Given the description of an element on the screen output the (x, y) to click on. 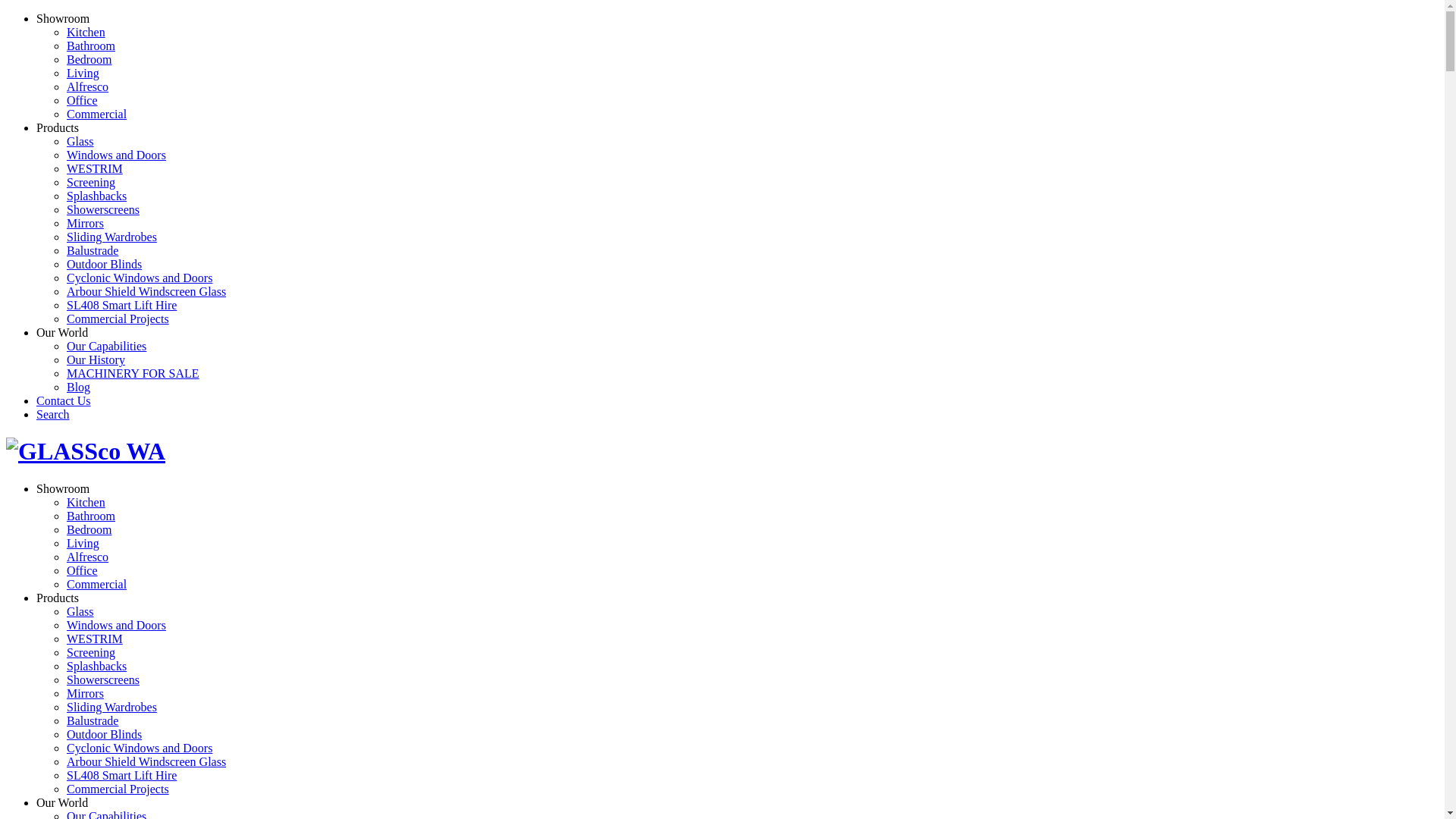
Outdoor Blinds Element type: text (103, 734)
MACHINERY FOR SALE Element type: text (132, 373)
Alfresco Element type: text (87, 86)
Showerscreens Element type: text (102, 209)
Cyclonic Windows and Doors Element type: text (139, 277)
Our Capabilities Element type: text (106, 345)
Office Element type: text (81, 100)
Glass Element type: text (80, 611)
Office Element type: text (81, 570)
Commercial Projects Element type: text (117, 788)
Kitchen Element type: text (85, 31)
SL408 Smart Lift Hire Element type: text (121, 304)
WESTRIM Element type: text (94, 638)
Blog Element type: text (78, 386)
Commercial Element type: text (96, 113)
Kitchen Element type: text (85, 501)
Splashbacks Element type: text (96, 195)
Bathroom Element type: text (90, 515)
Cyclonic Windows and Doors Element type: text (139, 747)
Balustrade Element type: text (92, 720)
Products Element type: text (57, 127)
Commercial Element type: text (96, 583)
Arbour Shield Windscreen Glass Element type: text (145, 761)
SL408 Smart Lift Hire Element type: text (121, 774)
Living Element type: text (82, 542)
Showroom Element type: text (62, 488)
Living Element type: text (82, 72)
Screening Element type: text (90, 181)
Bathroom Element type: text (90, 45)
Glass Element type: text (80, 140)
WESTRIM Element type: text (94, 168)
Splashbacks Element type: text (96, 665)
Our World Element type: text (61, 802)
Our History Element type: text (95, 359)
Search Element type: text (52, 413)
Mirrors Element type: text (84, 693)
Products Element type: text (57, 597)
Bedroom Element type: text (89, 529)
Showroom Element type: text (62, 18)
Sliding Wardrobes Element type: text (111, 236)
Windows and Doors Element type: text (116, 624)
Screening Element type: text (90, 652)
Arbour Shield Windscreen Glass Element type: text (145, 291)
Our World Element type: text (61, 332)
Windows and Doors Element type: text (116, 154)
Sliding Wardrobes Element type: text (111, 706)
Outdoor Blinds Element type: text (103, 263)
Showerscreens Element type: text (102, 679)
Balustrade Element type: text (92, 250)
Bedroom Element type: text (89, 59)
Alfresco Element type: text (87, 556)
Commercial Projects Element type: text (117, 318)
Mirrors Element type: text (84, 222)
Contact Us Element type: text (63, 400)
